Given the description of an element on the screen output the (x, y) to click on. 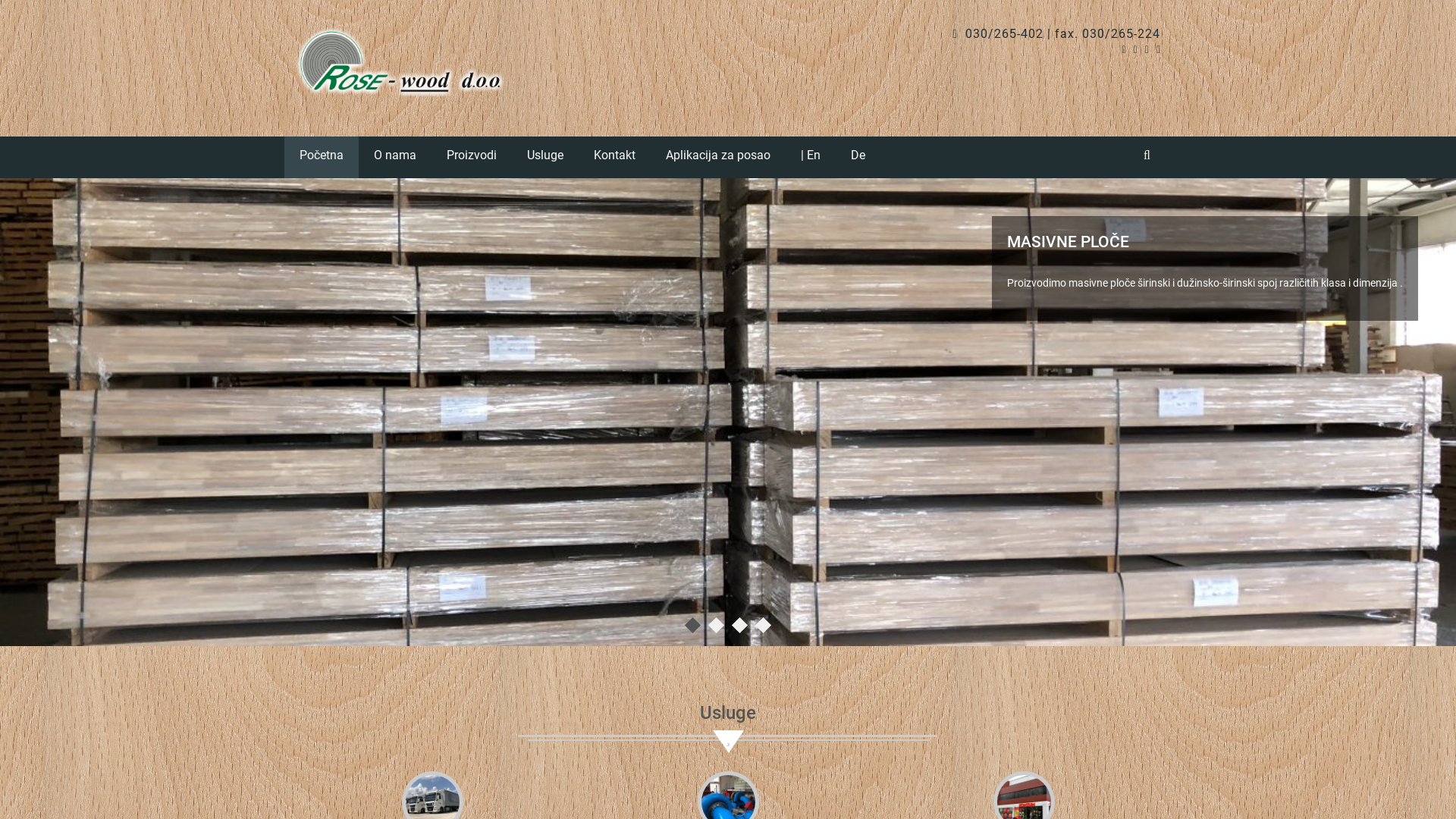
| En Element type: text (810, 157)
Aplikacija za posao Element type: text (717, 157)
O nama Element type: text (394, 157)
2 Element type: text (713, 622)
1 Element type: text (690, 622)
4 Element type: text (760, 622)
Proizvodi Element type: text (471, 157)
Vimeo Element type: hover (1158, 49)
3 Element type: text (737, 622)
De Element type: text (857, 157)
Usluge Element type: text (544, 157)
Kontakt Element type: text (614, 157)
030/265-402 | fax. 030/265-224 Element type: text (1056, 33)
Facebook Element type: hover (1124, 49)
Google Plus Element type: hover (1146, 49)
Linkedin Element type: hover (1135, 49)
